Given the description of an element on the screen output the (x, y) to click on. 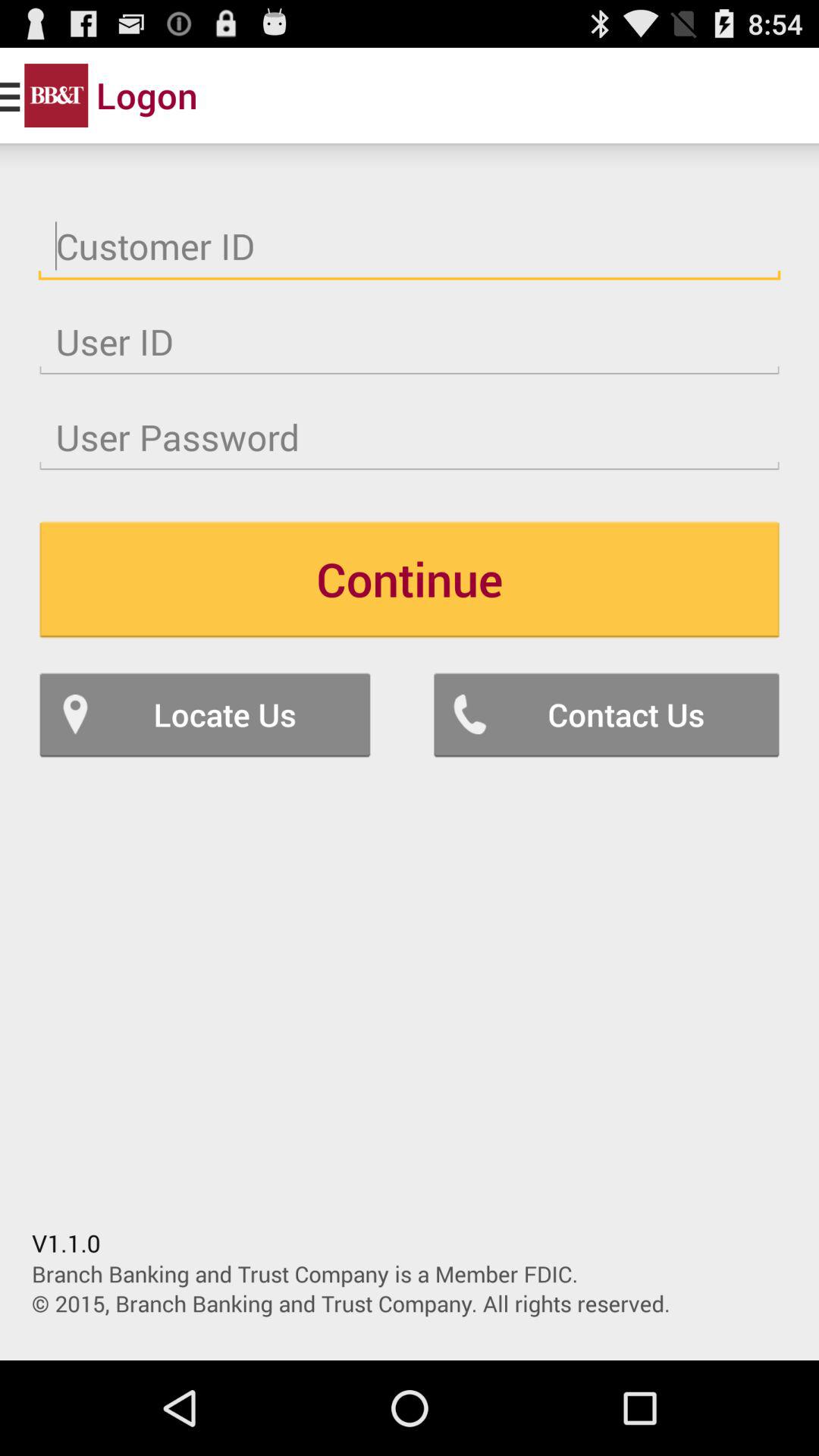
tap item below the continue icon (606, 714)
